Given the description of an element on the screen output the (x, y) to click on. 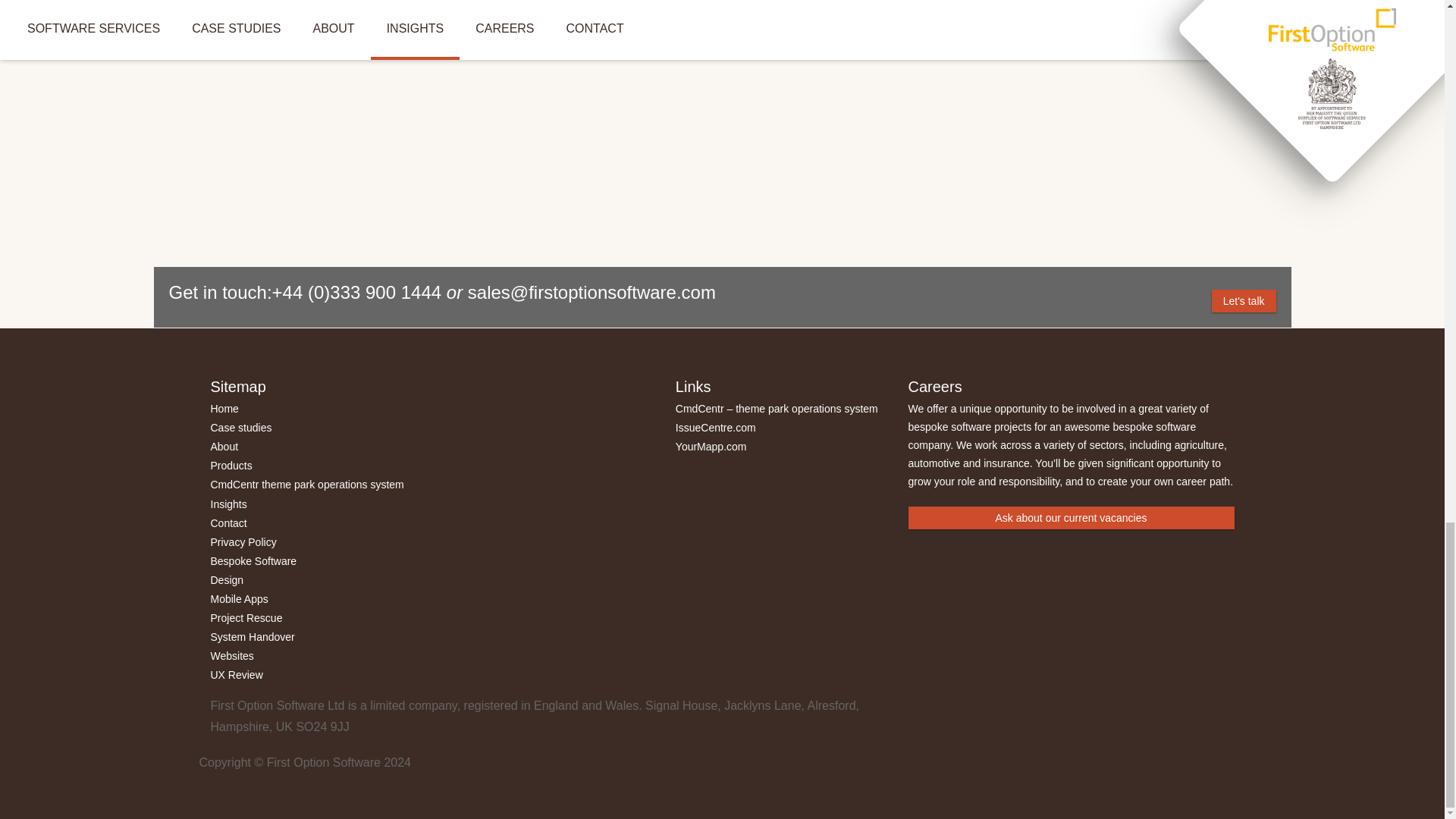
Mobile Apps (239, 598)
Contact (229, 522)
Let's talk (1243, 300)
System Handover (253, 636)
Let's talk (1244, 300)
Websites (232, 655)
About (224, 446)
Insights (229, 503)
Project Rescue (246, 617)
YourMapp.com (710, 446)
